Given the description of an element on the screen output the (x, y) to click on. 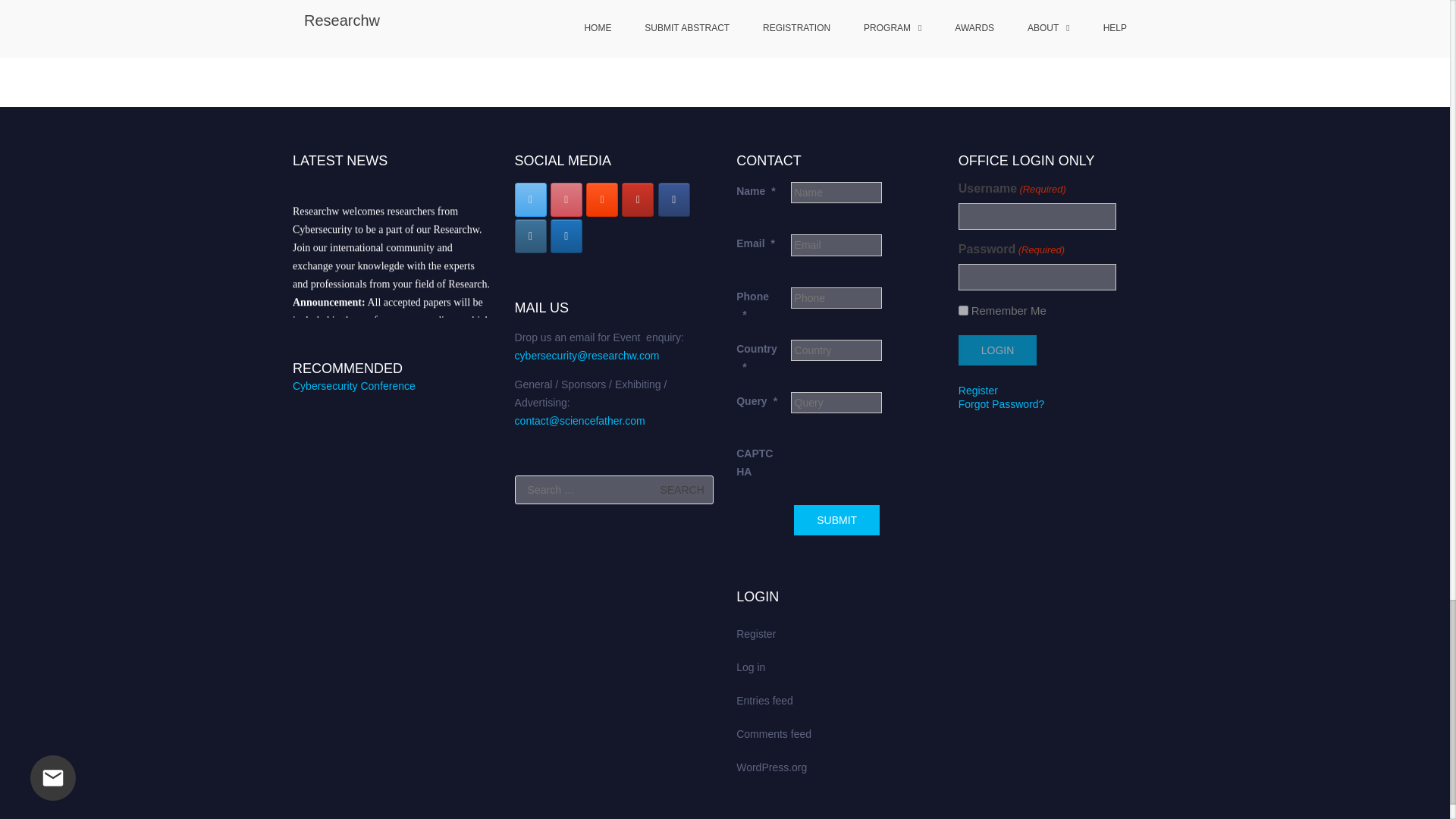
Researchw on Youtube (637, 199)
Researchw on Pinterest (566, 199)
Researchw on Blogger B (601, 199)
Researchw on X Twitter (531, 199)
Submit (836, 520)
Researchw on Instagram (531, 236)
Researchw on Facebook (674, 199)
Login (997, 349)
Search (681, 489)
1 (963, 310)
Search (681, 489)
